Given the description of an element on the screen output the (x, y) to click on. 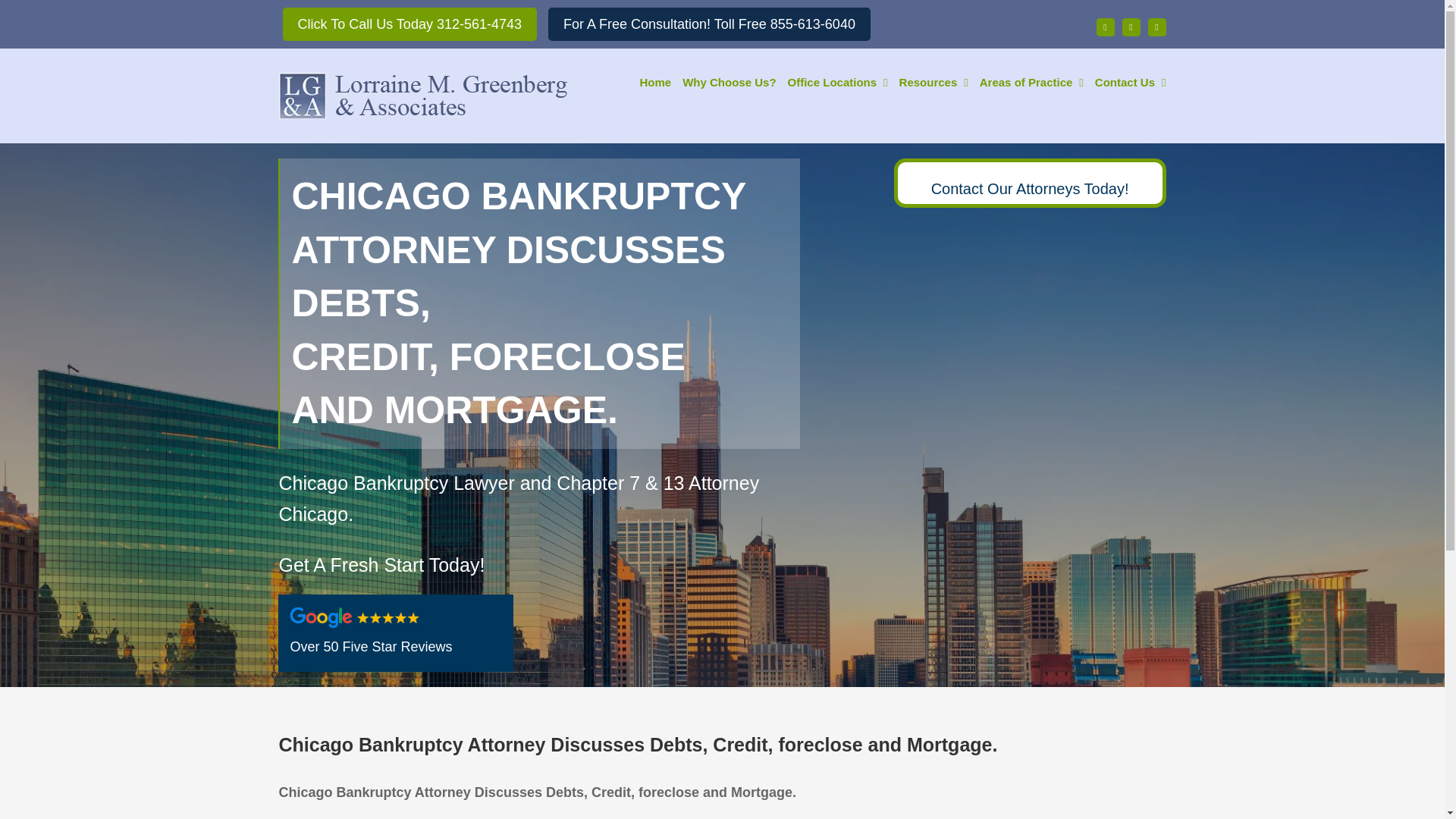
Click To Call Us Today 312-588-3330 (409, 23)
Areas of Practice (1031, 81)
Why Choose Us? (729, 81)
Office Locations (837, 81)
LinkedIn (1157, 27)
Facebook (1105, 27)
LinkedIn (1157, 27)
Twitter (1131, 27)
For A Free Consultation! Toll Free 800-519-0090 (709, 23)
Twitter (1131, 27)
